Given the description of an element on the screen output the (x, y) to click on. 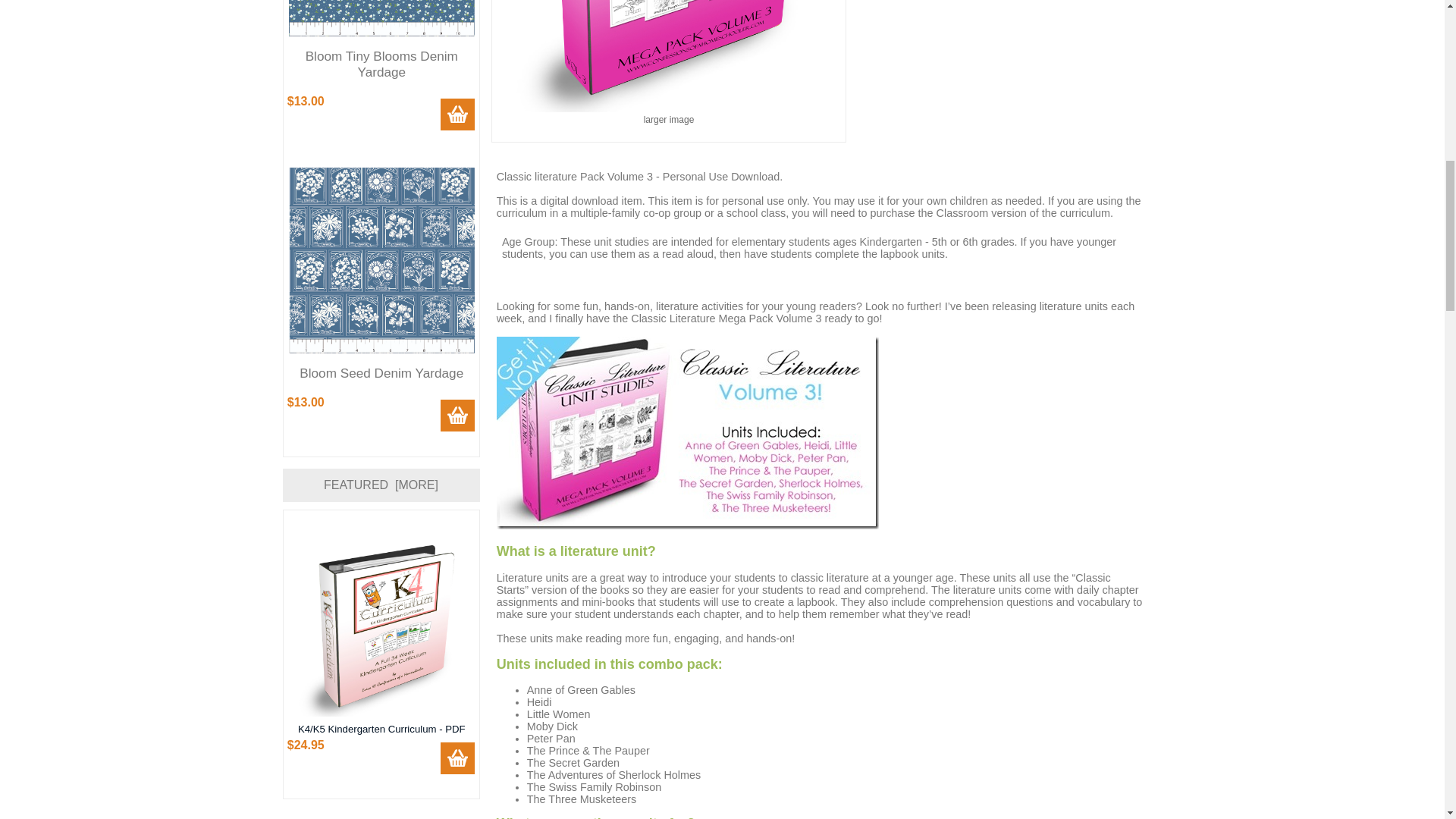
Bloom Tiny Blooms Denim Yardage (381, 18)
Bloom Seed Denim Yardage (381, 259)
Classic Literature Mega Pack Vol. 3 - PDF (668, 56)
